Given the description of an element on the screen output the (x, y) to click on. 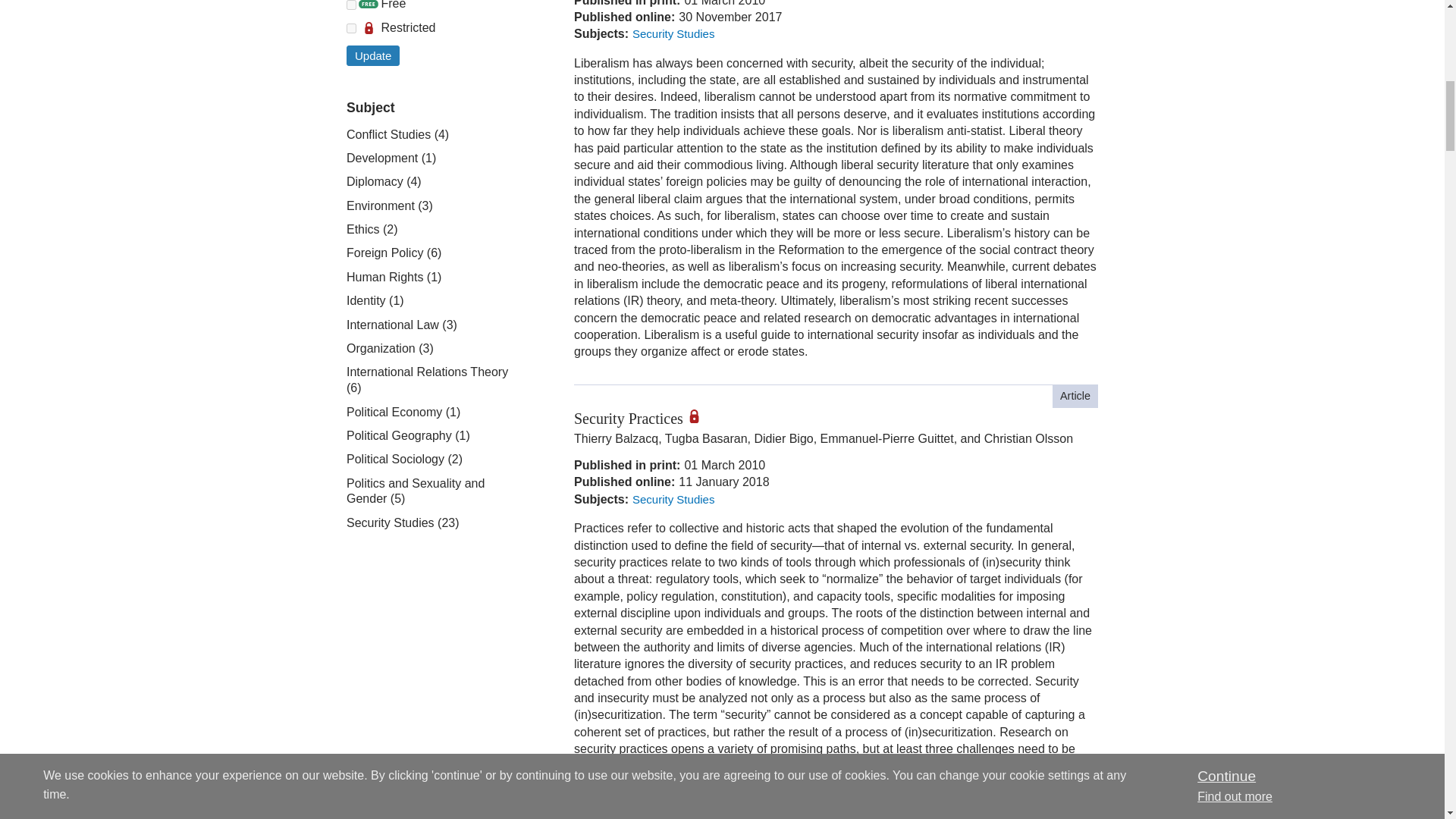
free (351, 4)
locked (351, 28)
